Given the description of an element on the screen output the (x, y) to click on. 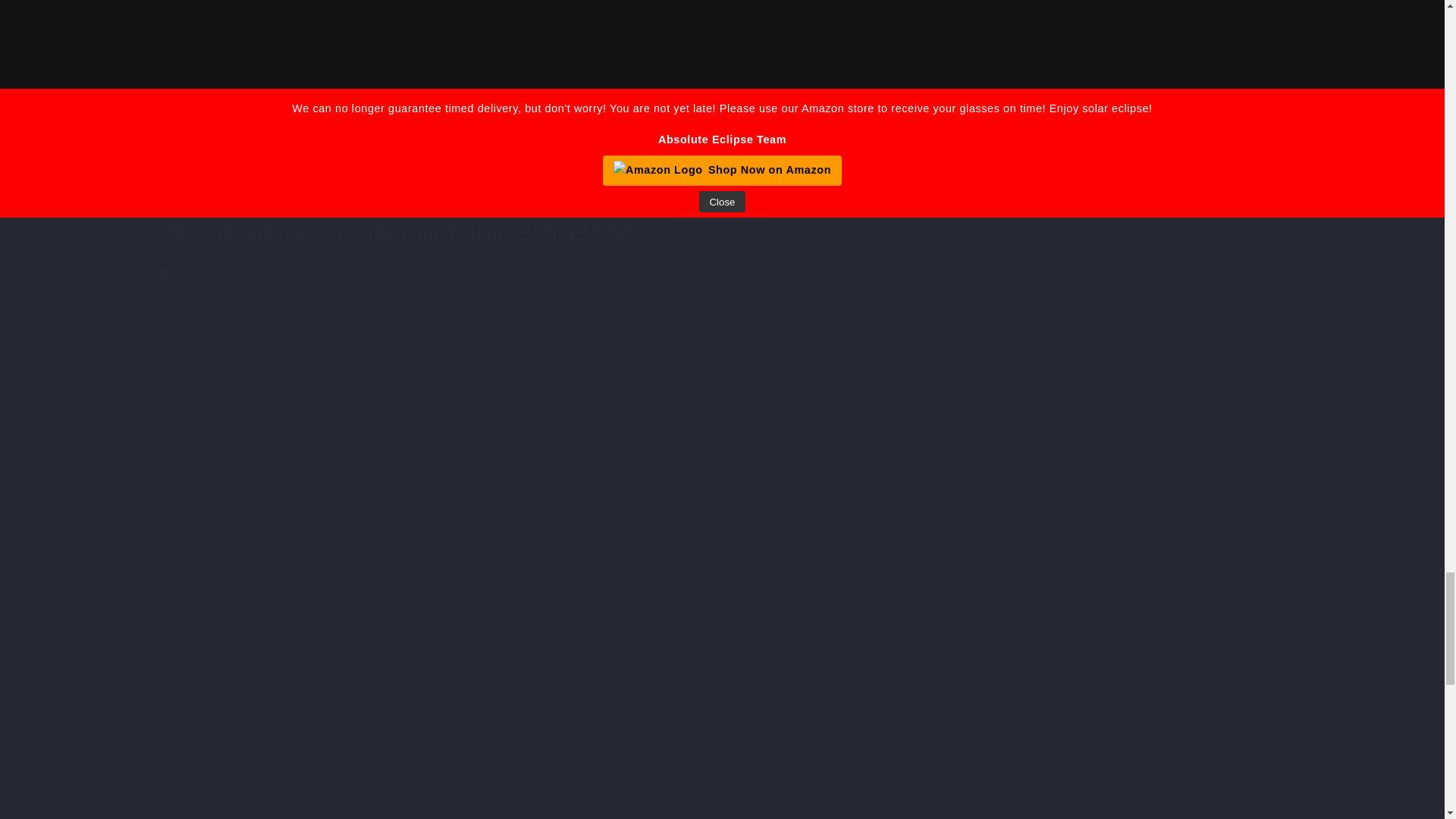
View all (721, 184)
Watch this short video to learn more about Solar Eclipses (721, 232)
